Given the description of an element on the screen output the (x, y) to click on. 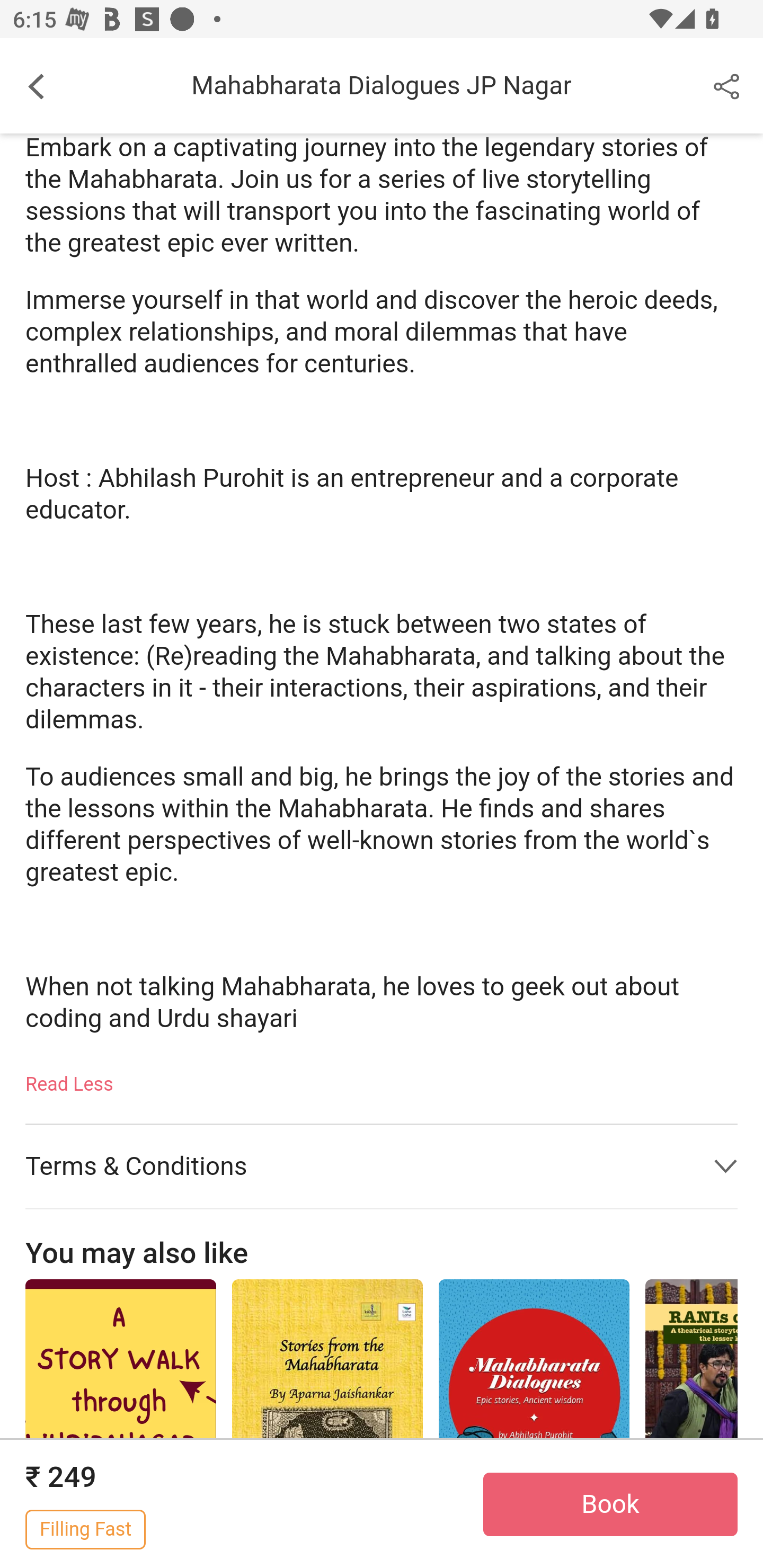
Read Less (69, 1078)
Terms & Conditions (381, 1166)
A Story walk through INDIRANAGAR (Bangalore) (120, 1423)
Stories For Mahabharat (326, 1423)
Mahabharata Dialogues Koramangala  (533, 1423)
Book (609, 1505)
